Given the description of an element on the screen output the (x, y) to click on. 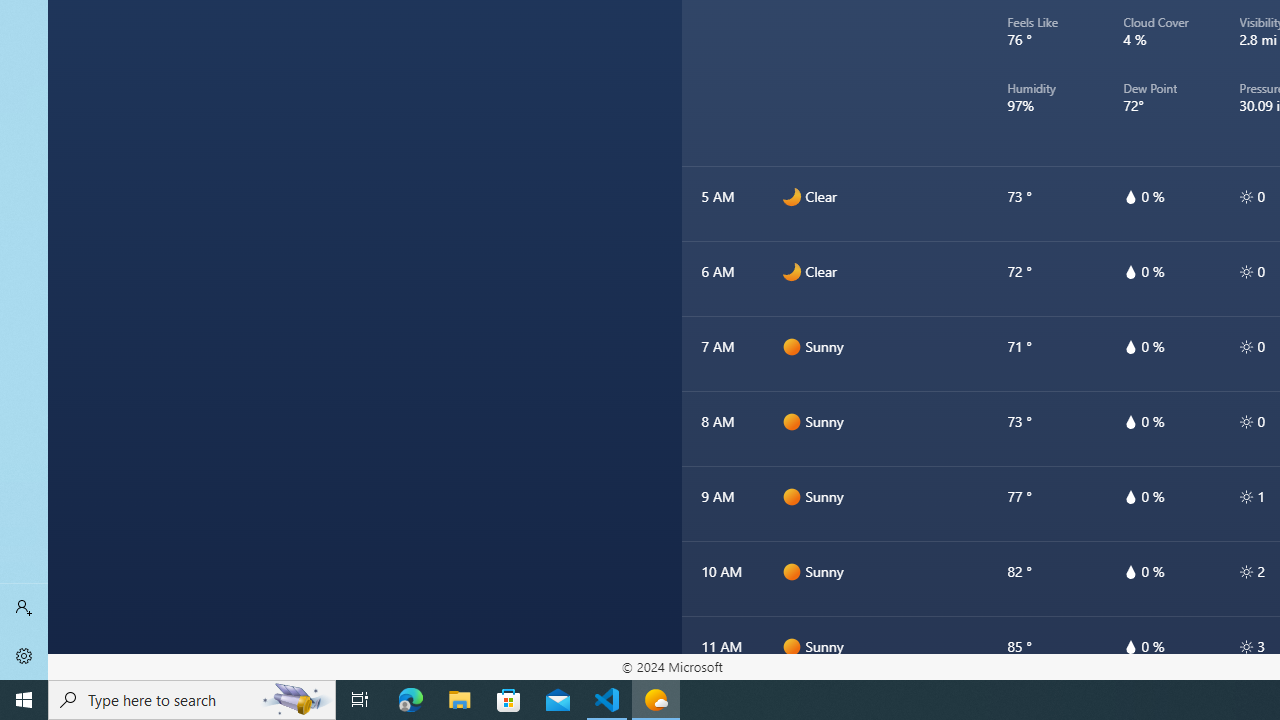
Sign in (24, 607)
Weather - 1 running window (656, 699)
Settings (24, 655)
File Explorer (460, 699)
Type here to search (191, 699)
Microsoft Edge (411, 699)
Visual Studio Code - 1 running window (607, 699)
Task View (359, 699)
Start (24, 699)
Search highlights icon opens search home window (295, 699)
Microsoft Store (509, 699)
